Given the description of an element on the screen output the (x, y) to click on. 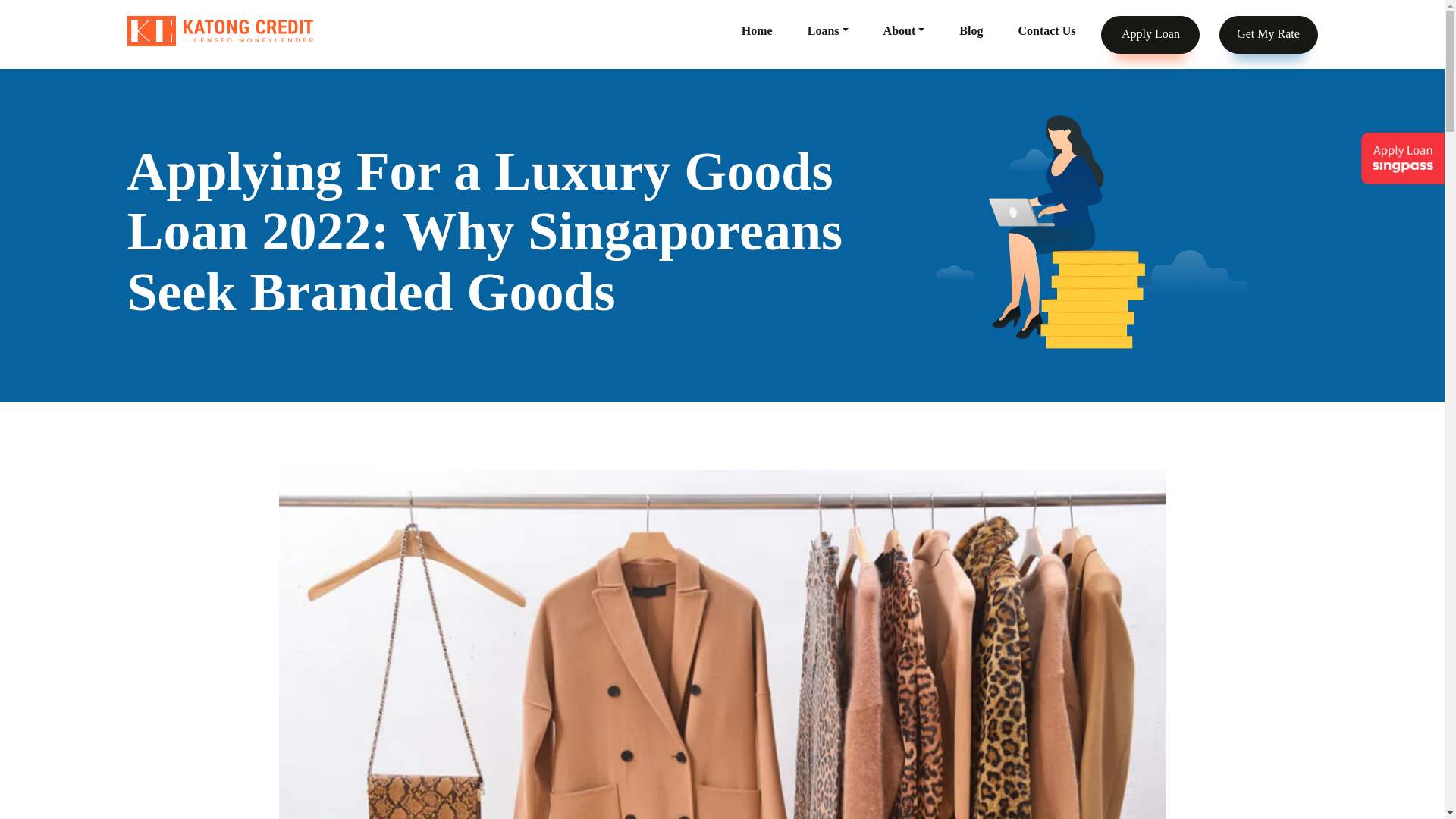
About (904, 30)
Loans (828, 30)
Contact Us (1046, 30)
Get My Rate (1268, 34)
Home (756, 30)
Blog (970, 30)
Apply Loan (1149, 34)
